Given the description of an element on the screen output the (x, y) to click on. 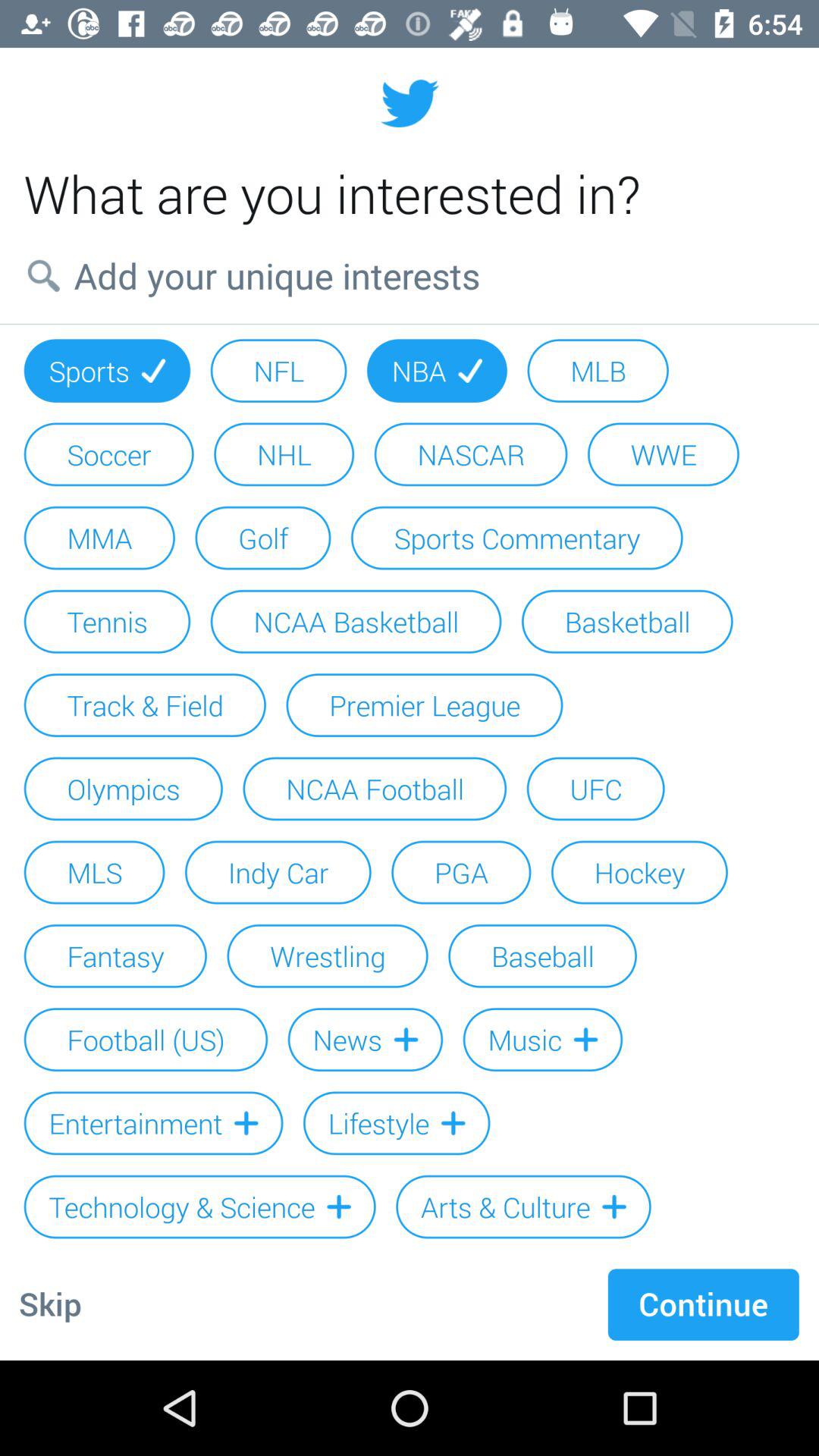
search and add custom interests (409, 275)
